Given the description of an element on the screen output the (x, y) to click on. 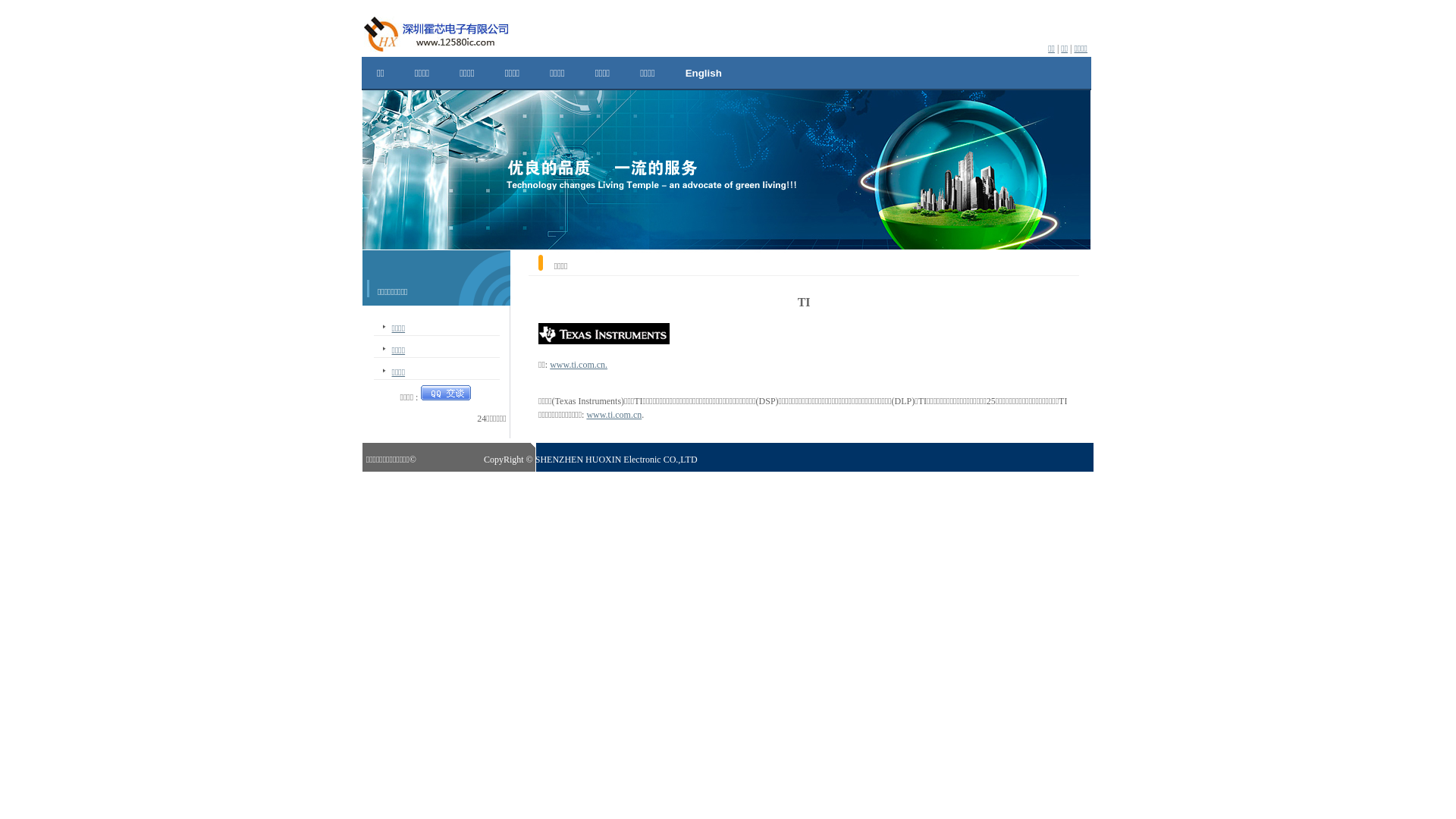
English Element type: text (703, 73)
www.ti.com.cn Element type: text (613, 414)
www.ti.com.cn. Element type: text (578, 364)
